Given the description of an element on the screen output the (x, y) to click on. 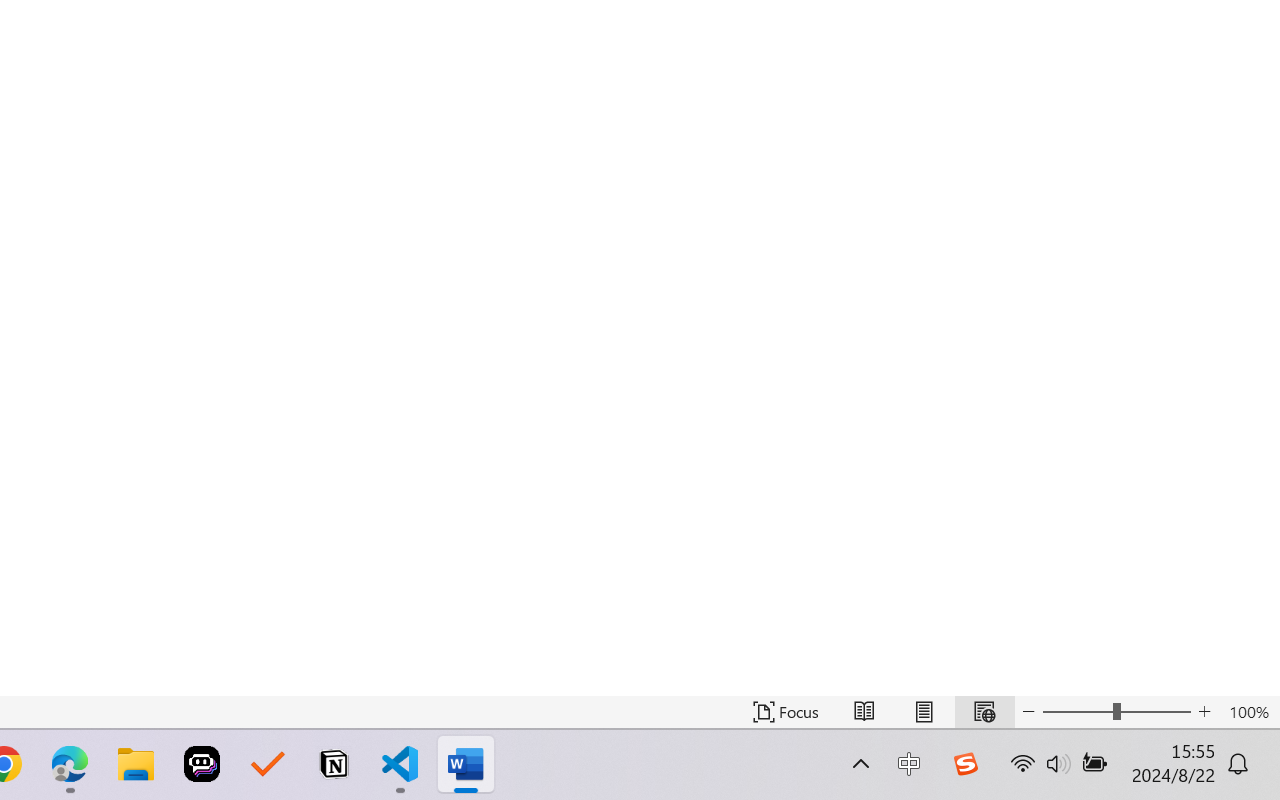
Zoom 90% (1234, 743)
